Given the description of an element on the screen output the (x, y) to click on. 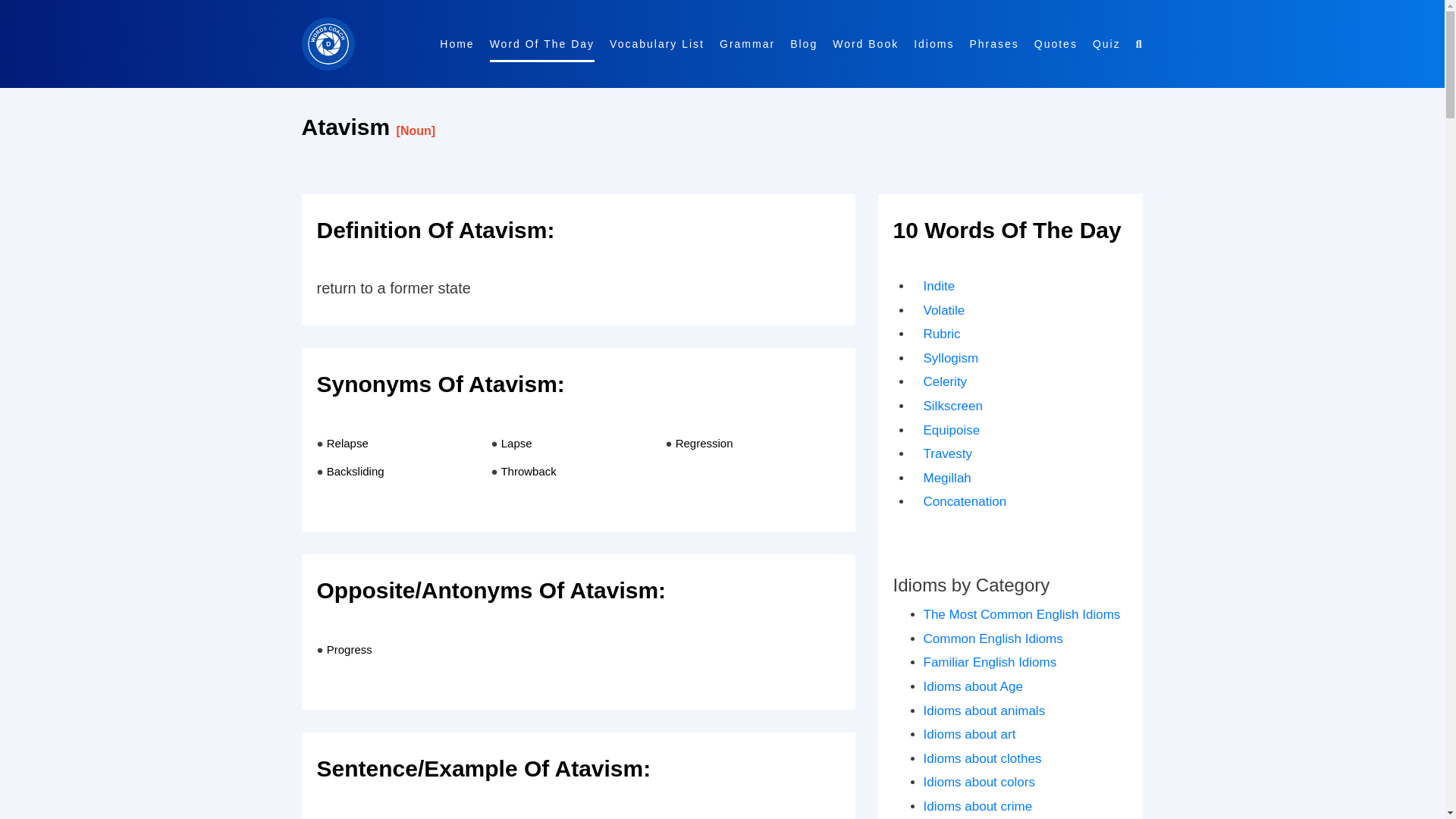
Progress (349, 649)
Idioms about art (969, 734)
Word coach: Word book (865, 43)
Home (456, 43)
Quote Of The Day: Word coach (1055, 43)
Word Of The Day (541, 43)
Regression (704, 442)
Equipoise (951, 430)
Word Book (865, 43)
Idioms about crime (977, 806)
